Given the description of an element on the screen output the (x, y) to click on. 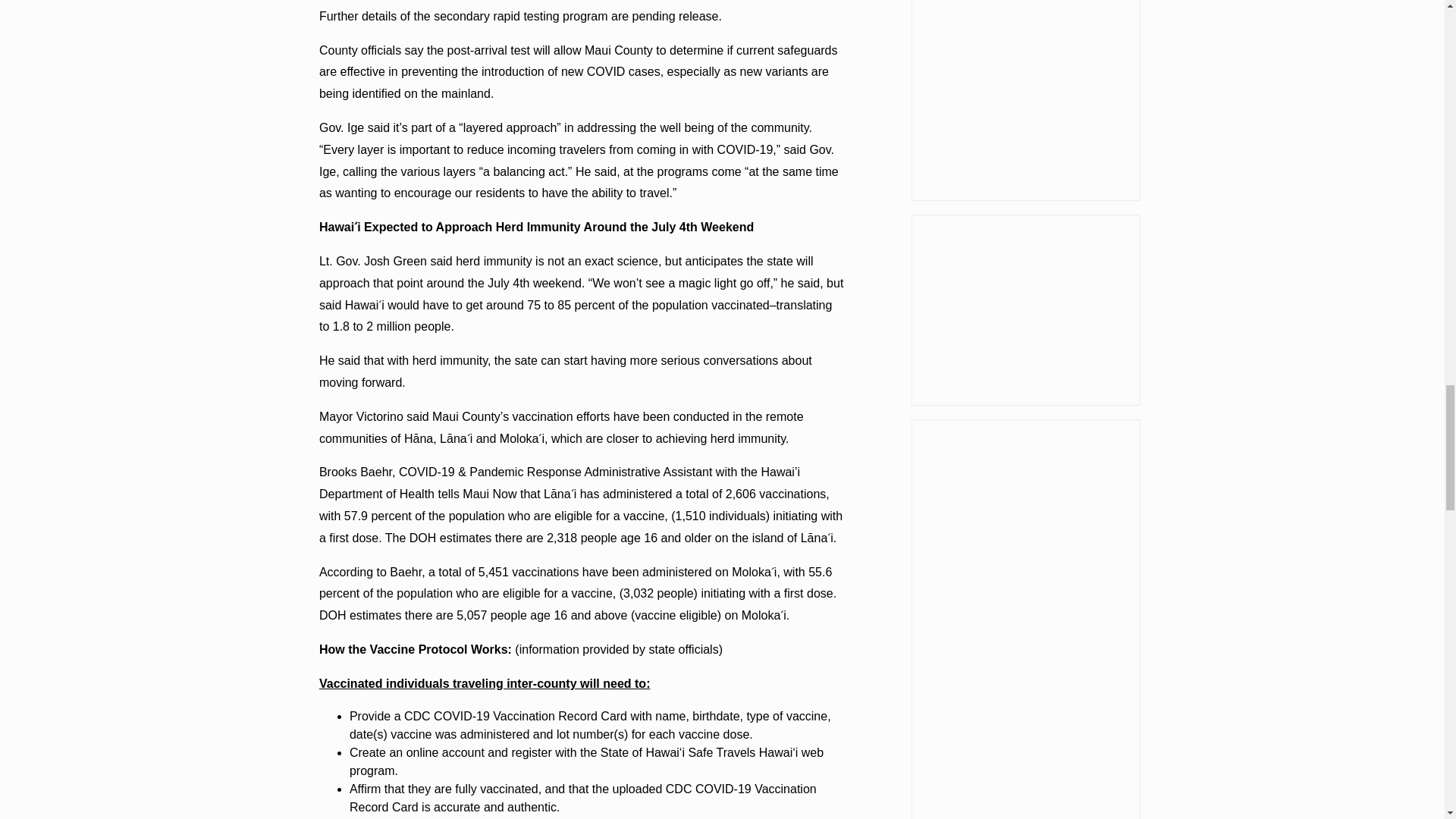
3rd party ad content (1025, 309)
3rd party ad content (1025, 100)
